Given the description of an element on the screen output the (x, y) to click on. 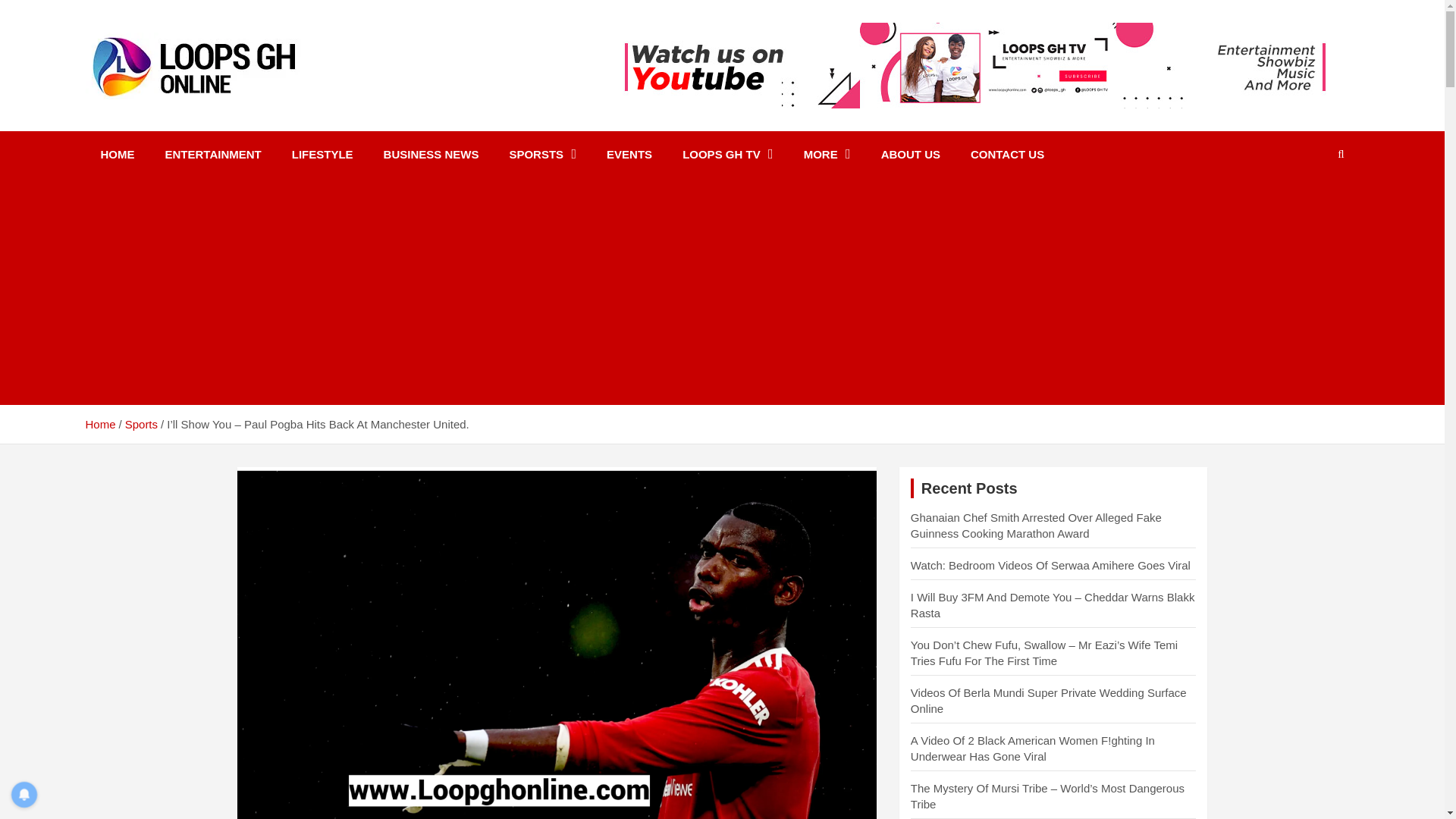
LIFESTYLE (322, 154)
BUSINESS NEWS (431, 154)
ENTERTAINMENT (212, 154)
HOME (116, 154)
EVENTS (628, 154)
Loops Gh Online (206, 118)
LOOPS GH TV (727, 154)
Sports (141, 423)
CONTACT US (1007, 154)
Home (99, 423)
MORE (827, 154)
SPORSTS (542, 154)
ABOUT US (910, 154)
